Given the description of an element on the screen output the (x, y) to click on. 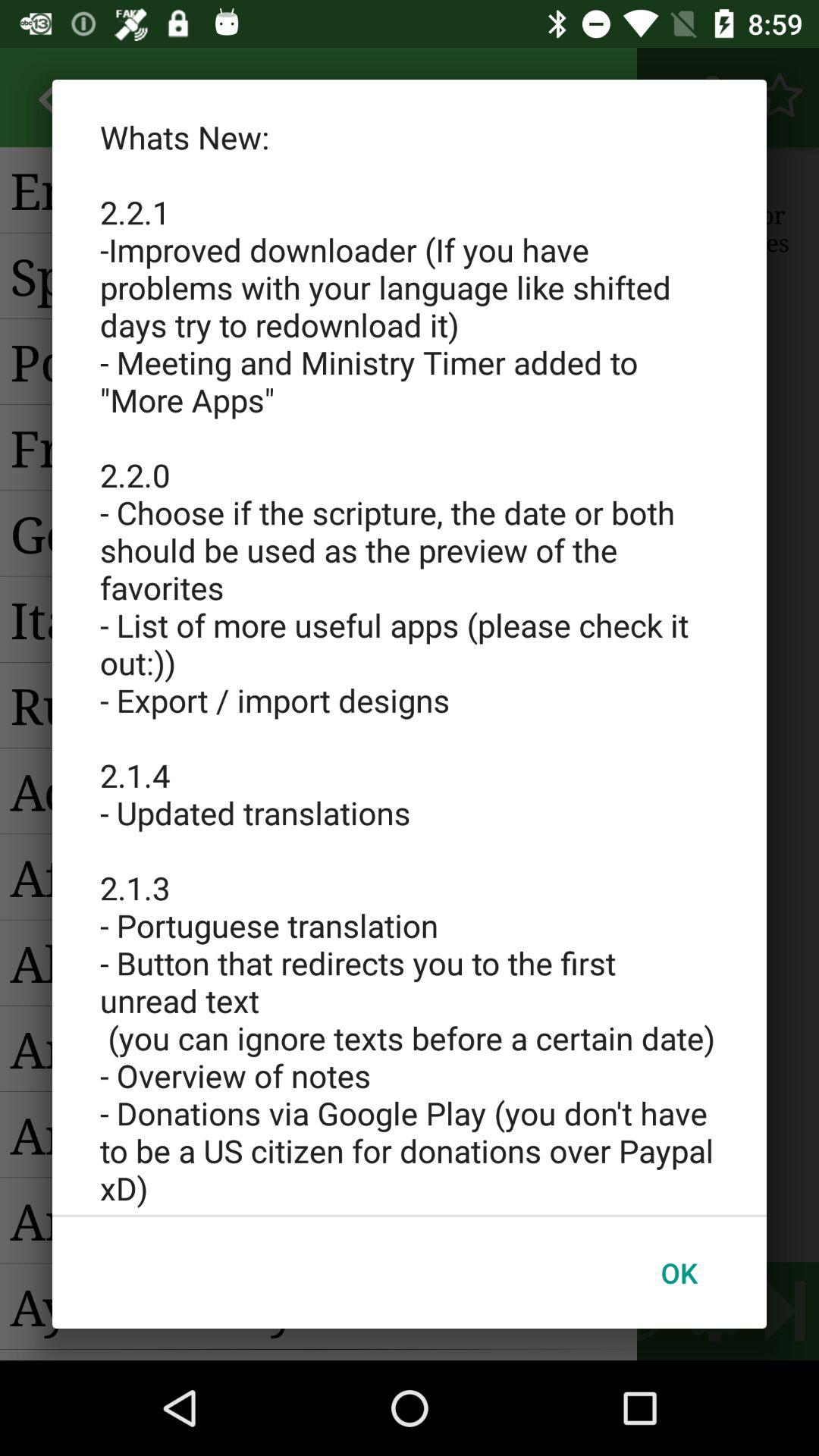
swipe until ok item (678, 1272)
